Given the description of an element on the screen output the (x, y) to click on. 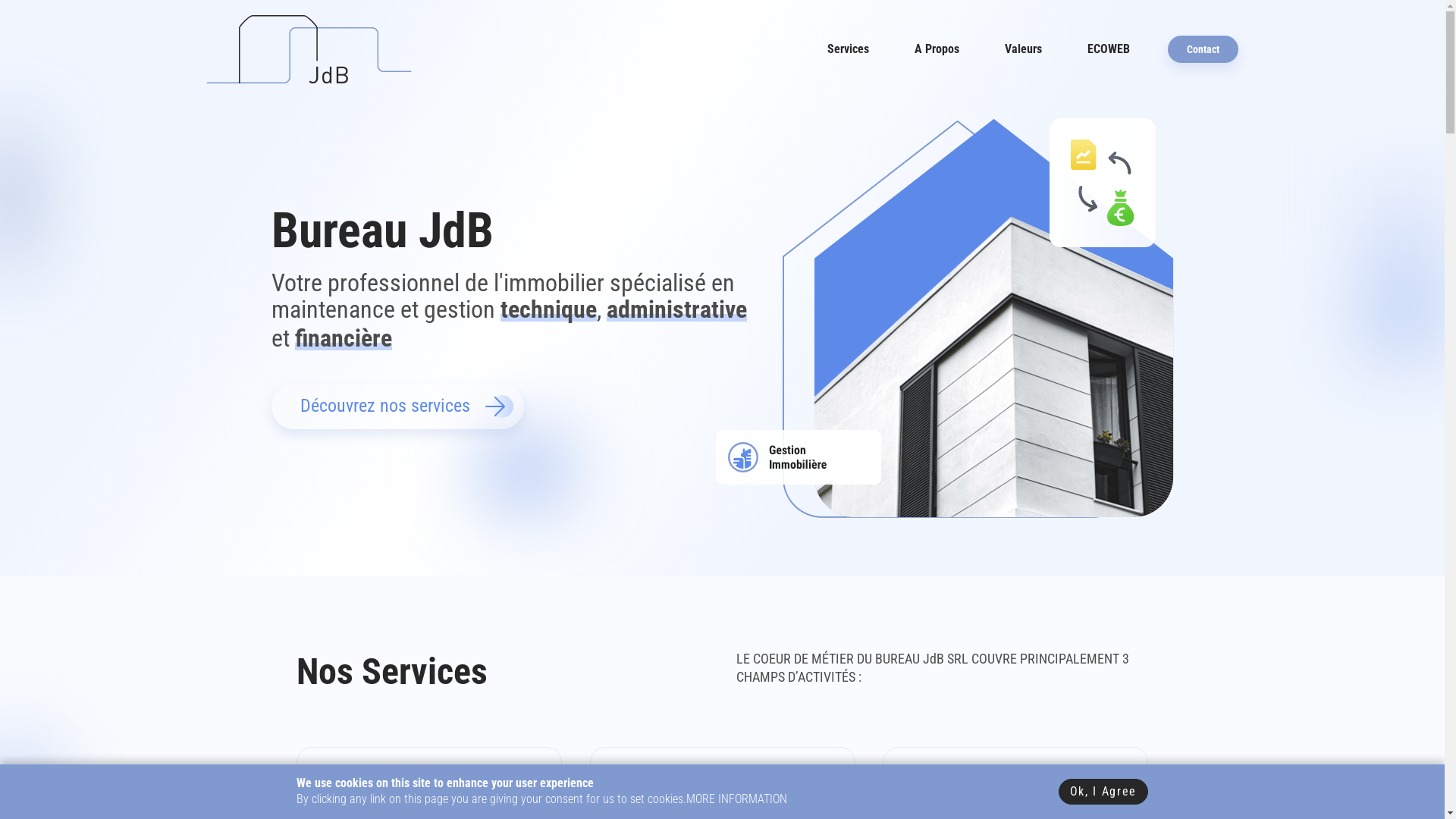
ECOWEB Element type: text (1108, 48)
Valeurs Element type: text (1022, 48)
A Propos Element type: text (936, 48)
Contact Element type: text (1202, 49)
Services Element type: text (847, 48)
Ok, I Agree Element type: text (1103, 791)
MORE INFORMATION Element type: text (736, 798)
